Given the description of an element on the screen output the (x, y) to click on. 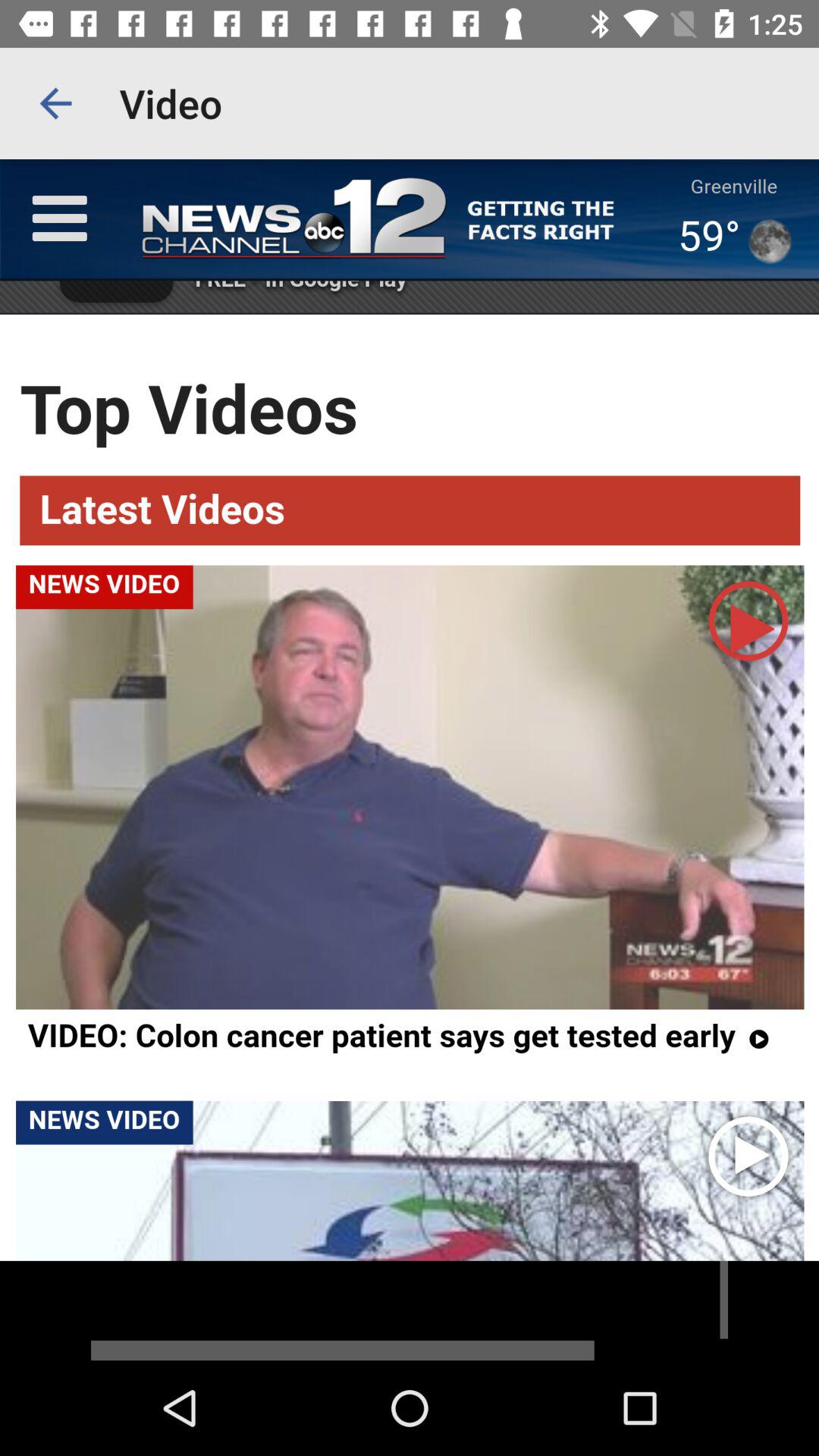
the video is end (409, 1310)
